Given the description of an element on the screen output the (x, y) to click on. 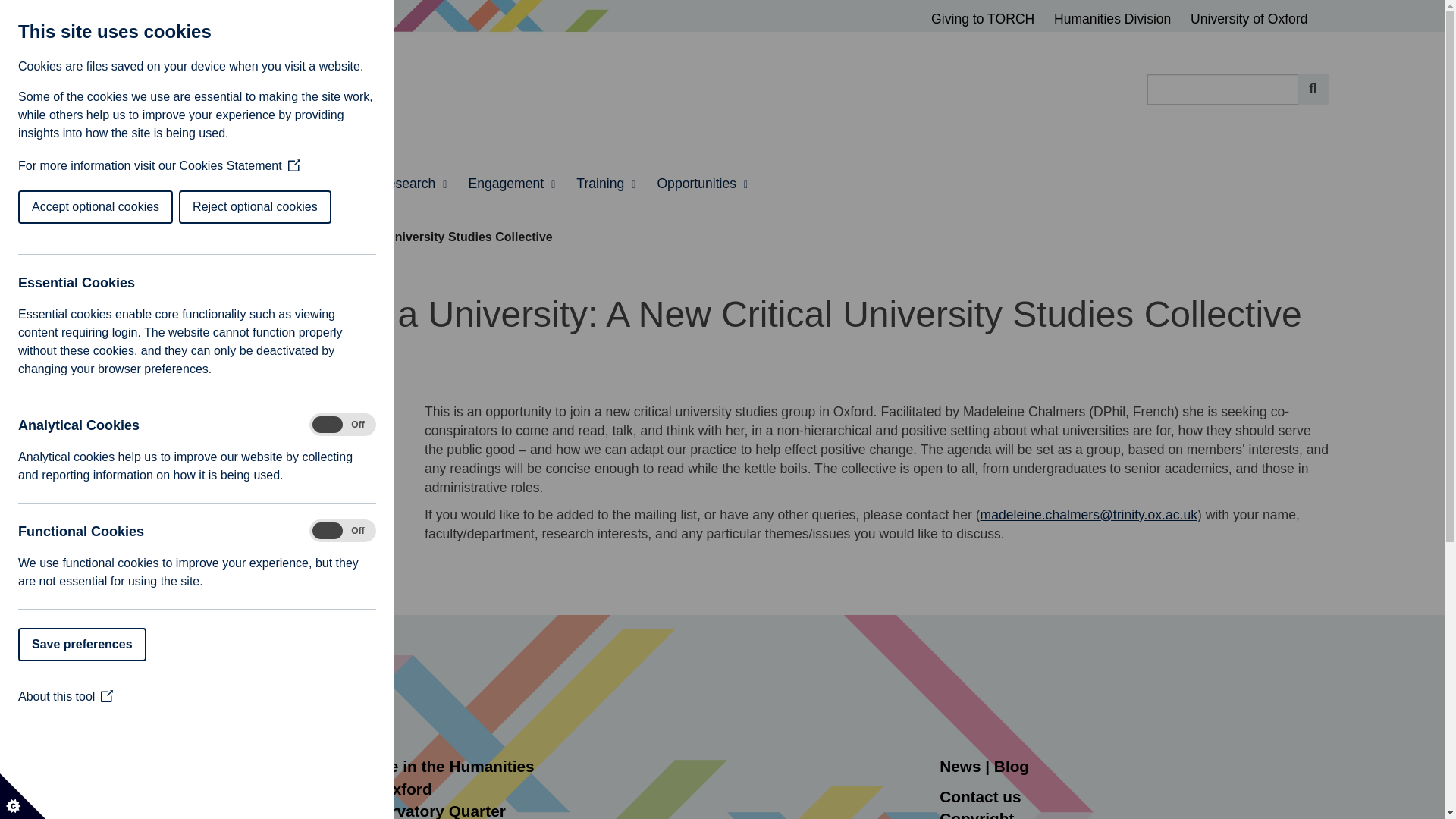
University of Oxford (1249, 19)
Search (1312, 89)
Call for papers (251, 493)
Humanities Division (1119, 19)
Training (606, 183)
Giving to TORCH (989, 19)
Engagement (511, 183)
Research (412, 183)
Oxford logo (251, 706)
Reject optional cookies (66, 206)
